Given the description of an element on the screen output the (x, y) to click on. 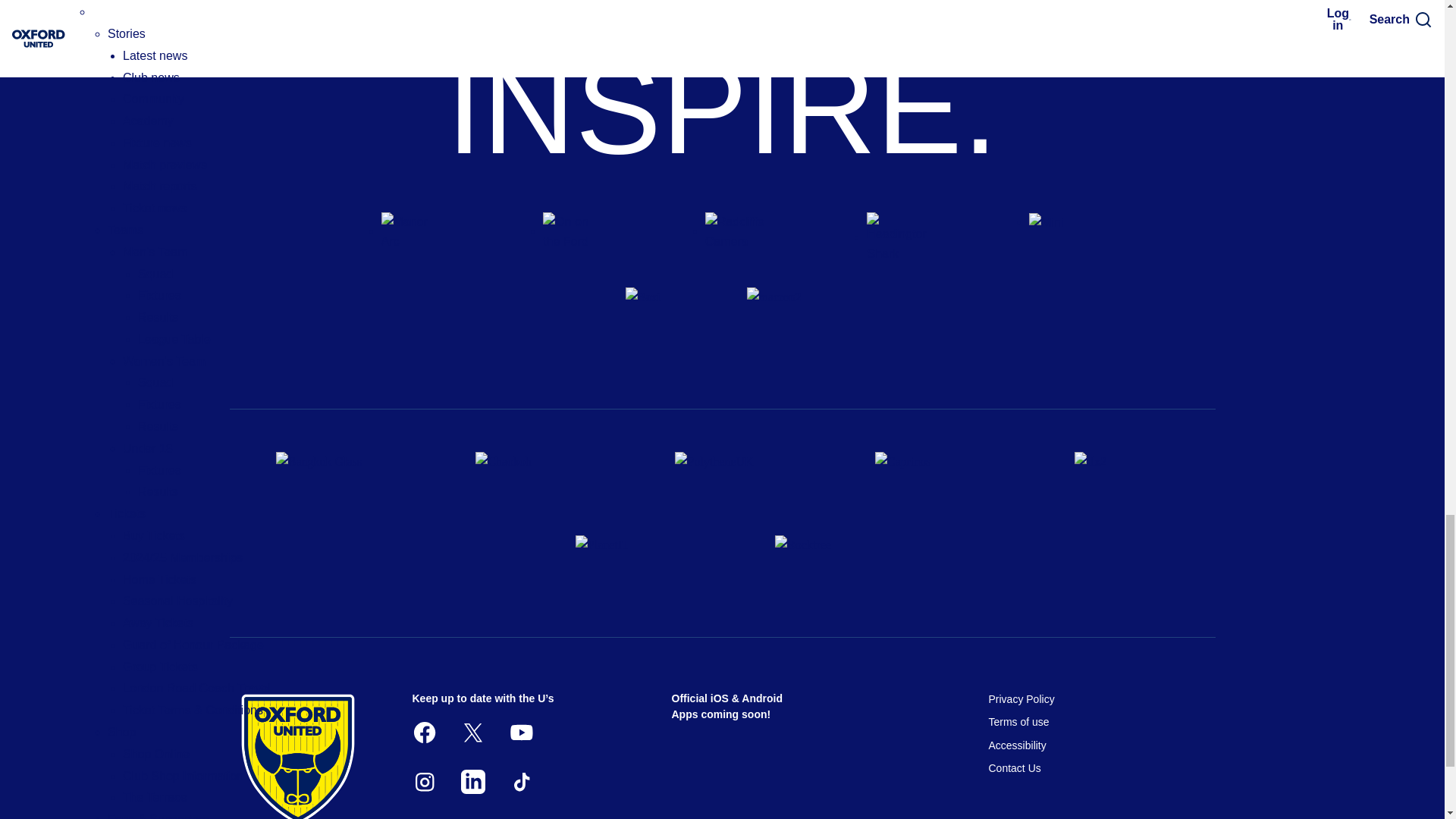
Chaokoh (522, 478)
Caprinos (922, 478)
IFX Payments (1121, 478)
Bangkok Glass (322, 478)
Polythene UK (721, 478)
Rocktree (821, 561)
Macron (781, 323)
Baxi (660, 323)
Planet IT (622, 561)
